Given the description of an element on the screen output the (x, y) to click on. 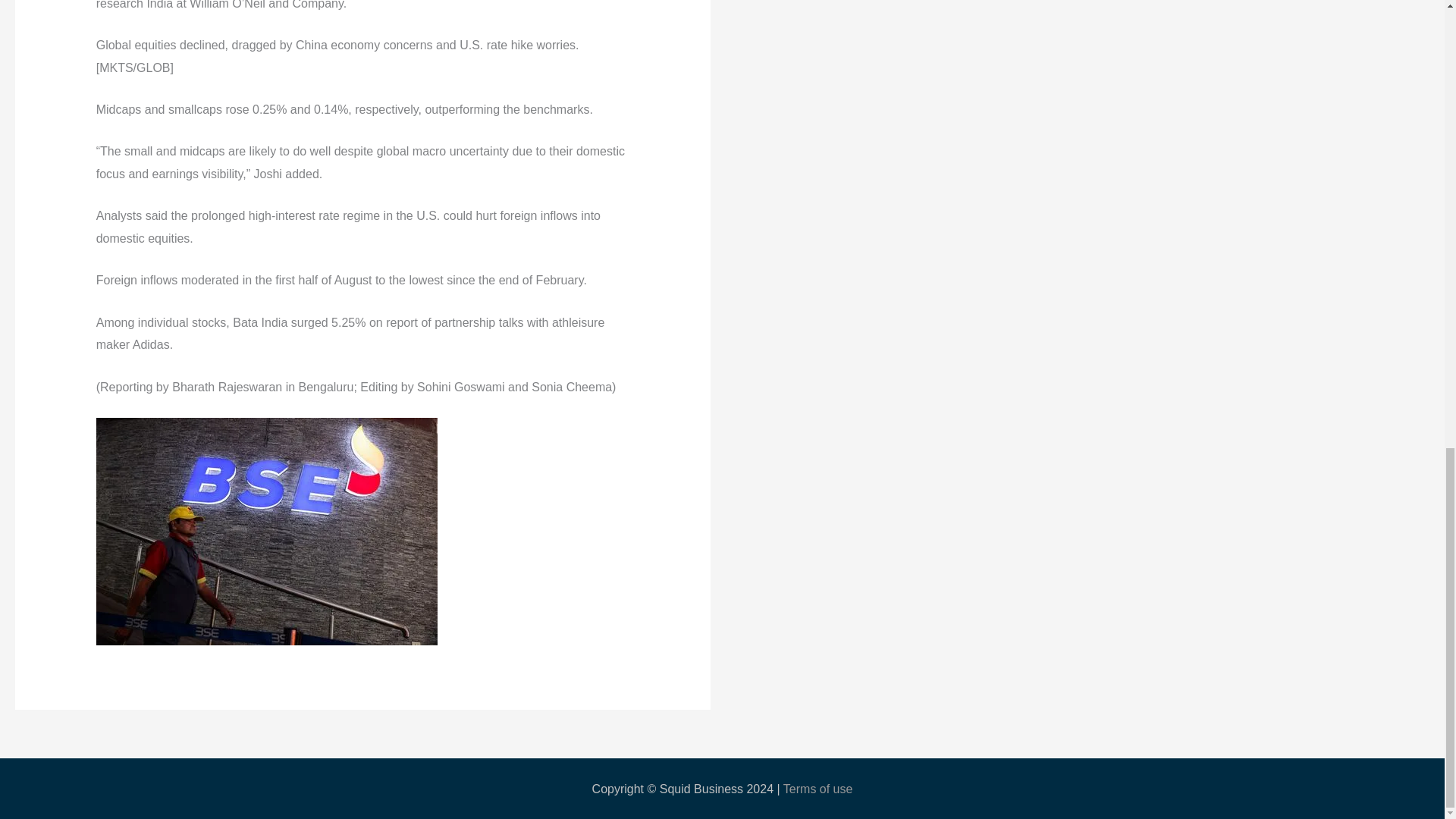
Terms of use (818, 788)
